Given the description of an element on the screen output the (x, y) to click on. 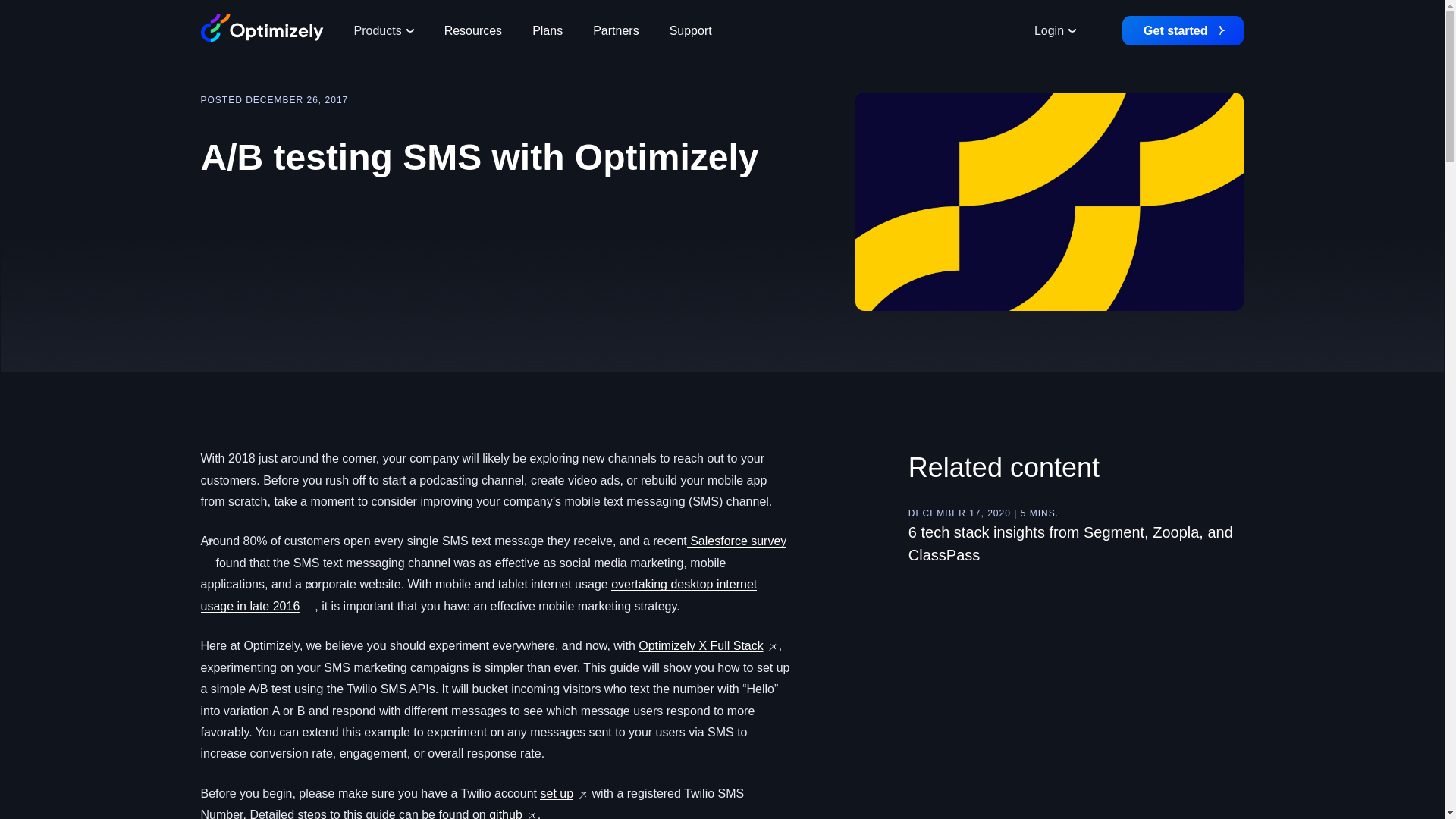
Login (1054, 30)
Optimizely Logo (261, 27)
Salesforce survey (979, 551)
github (505, 813)
Support (689, 30)
overtaking desktop internet usage in late 2016 (478, 594)
Optimizely X Full Stack (700, 645)
Plans (547, 30)
Resources (472, 30)
6 tech stack insights from Segment, Zoopla, and ClassPass (1070, 543)
